Given the description of an element on the screen output the (x, y) to click on. 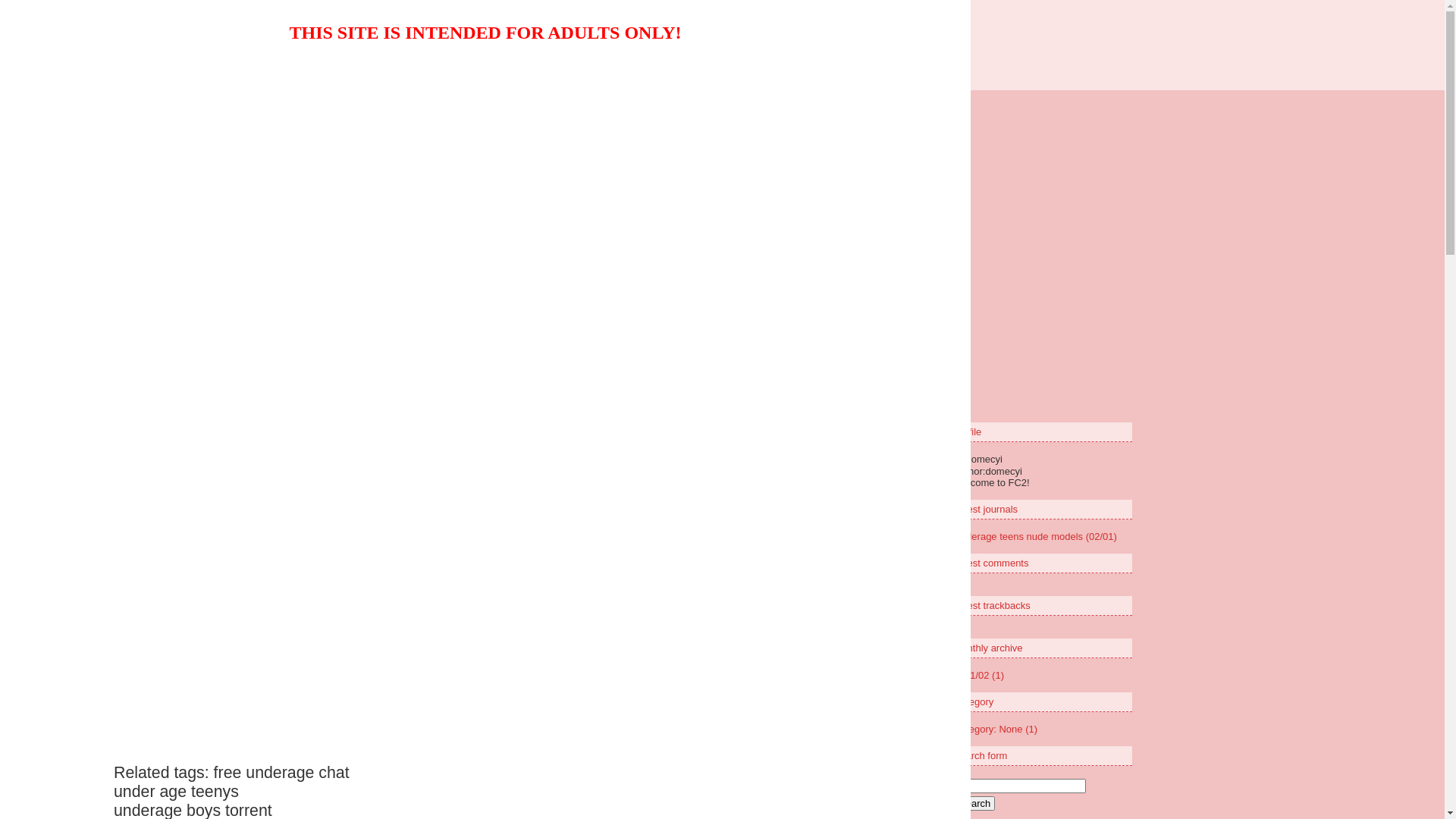
Trackbacks : 0 Element type: text (837, 194)
Underage teens nude models Element type: text (428, 146)
Nude underage girls butt Element type: text (721, 38)
Category: None Element type: text (671, 194)
 Search  Element type: text (974, 803)
HOME Element type: text (613, 268)
Pagetop Element type: text (851, 234)
Underage teens nude models (02/01) Element type: text (1035, 536)
Category: None (1) Element type: text (995, 728)
Comments : 0 Element type: text (756, 194)
2011/02 (1) Element type: text (978, 674)
Pagetop Element type: text (874, 329)
